Given the description of an element on the screen output the (x, y) to click on. 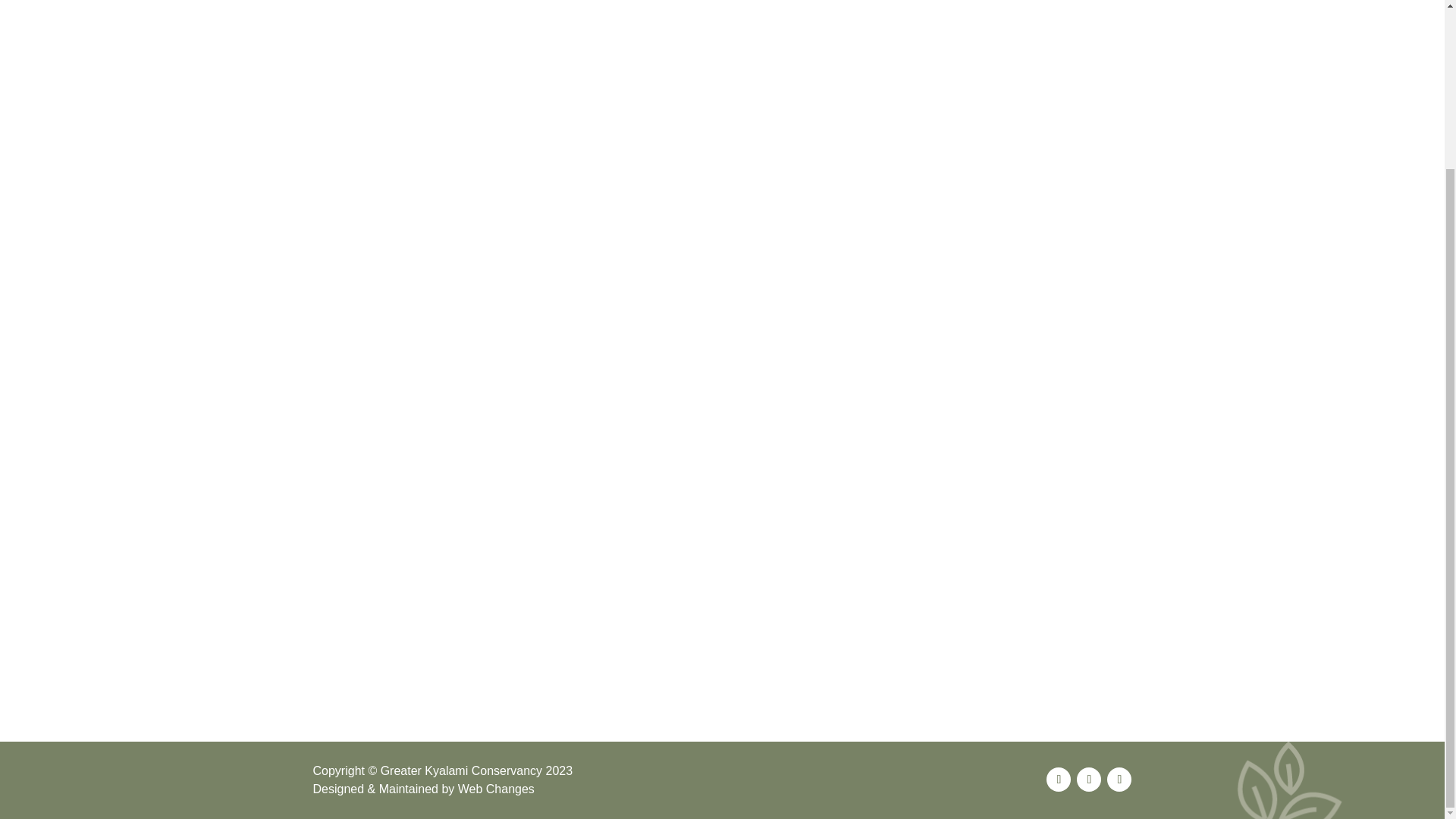
Web Changes (496, 788)
Follow on Twitter (1088, 779)
Follow on Youtube (1118, 779)
Follow on Facebook (1058, 779)
